Given the description of an element on the screen output the (x, y) to click on. 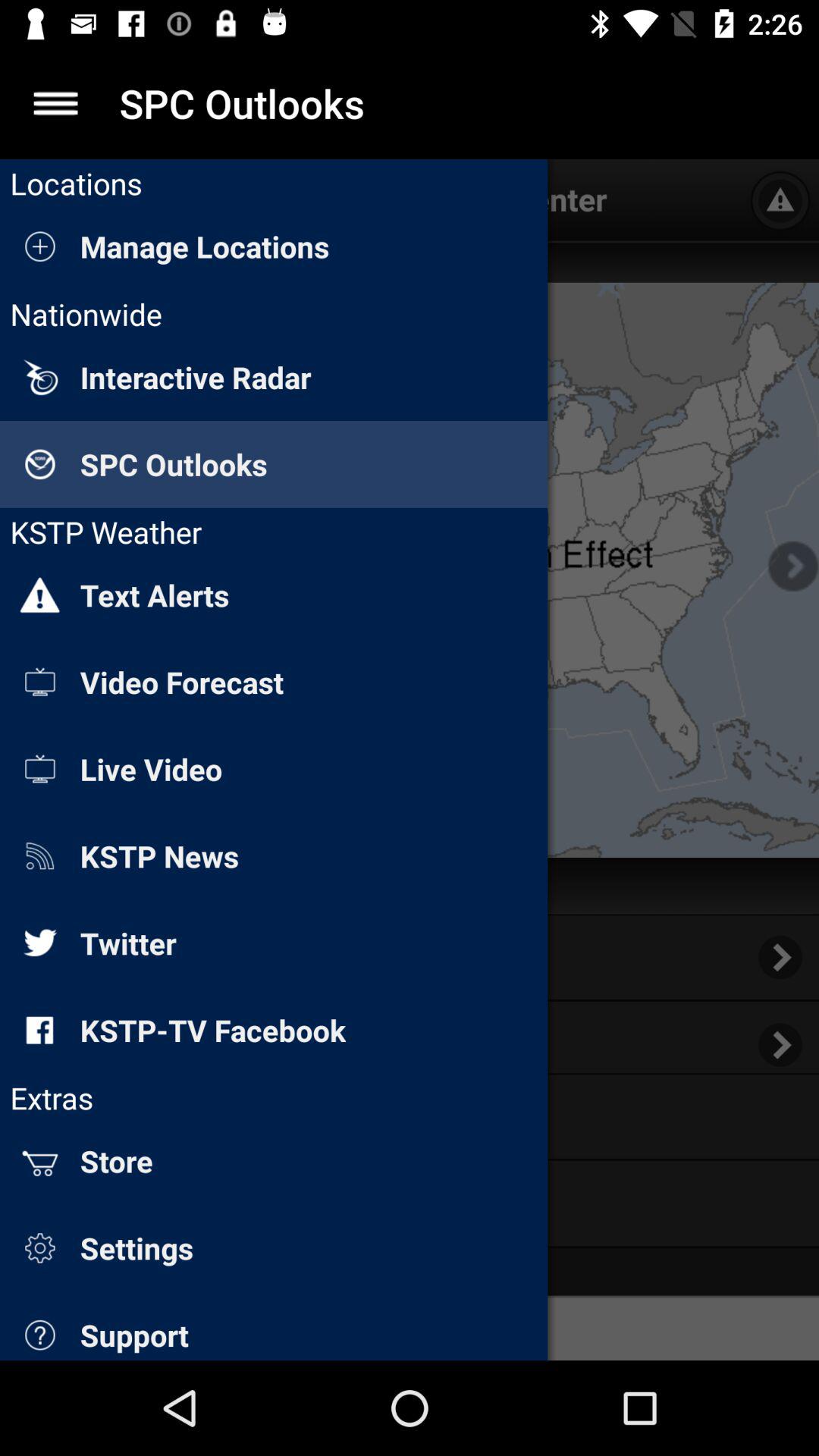
settings option (55, 103)
